Given the description of an element on the screen output the (x, y) to click on. 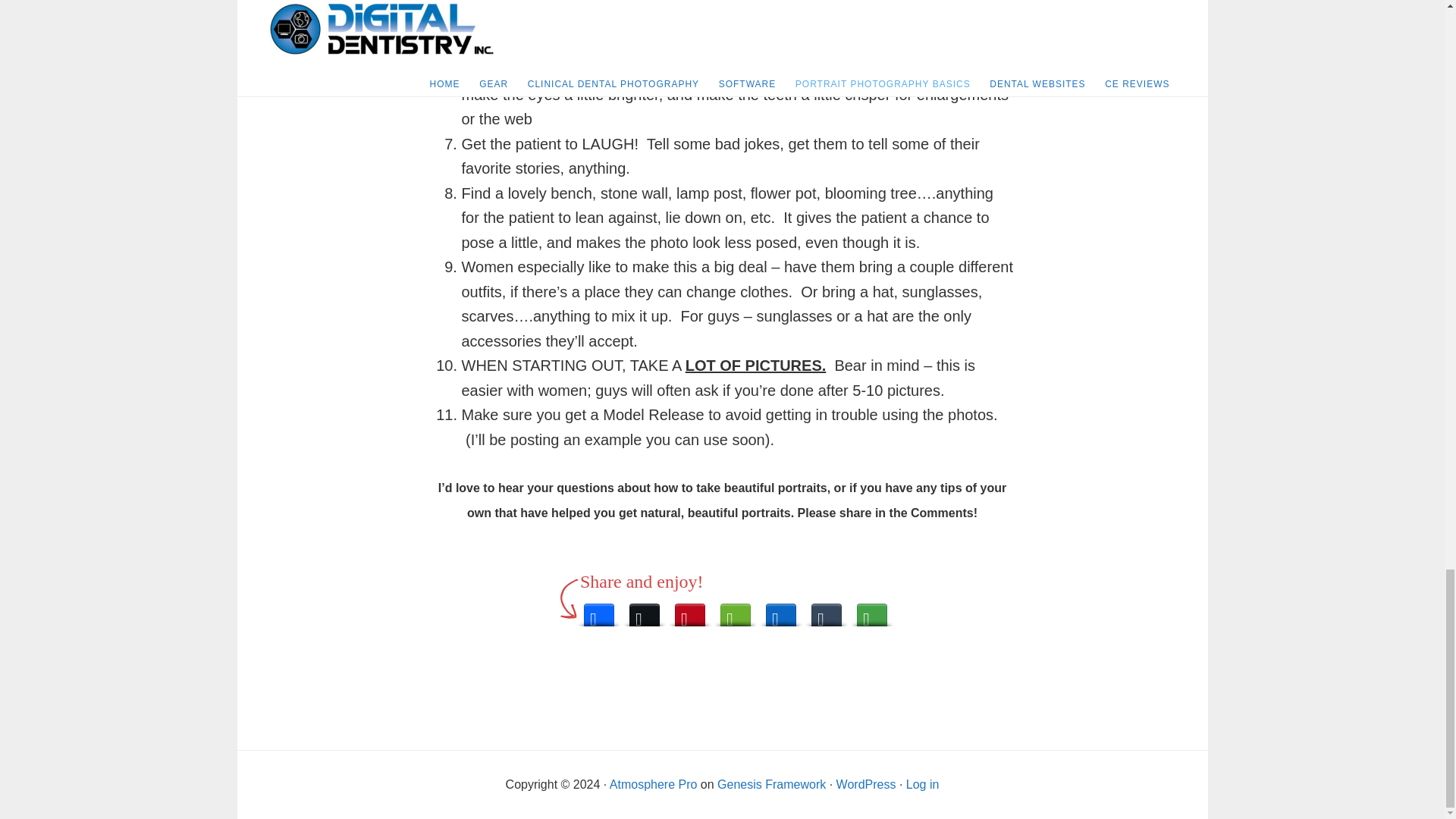
Pinterest (689, 610)
Atmosphere Pro (653, 784)
More Options (871, 610)
Evernote (735, 610)
Log in (922, 784)
WordPress (865, 784)
Facebook (598, 610)
Tumblr (825, 610)
Genesis Framework (771, 784)
LinkedIn (780, 610)
